Given the description of an element on the screen output the (x, y) to click on. 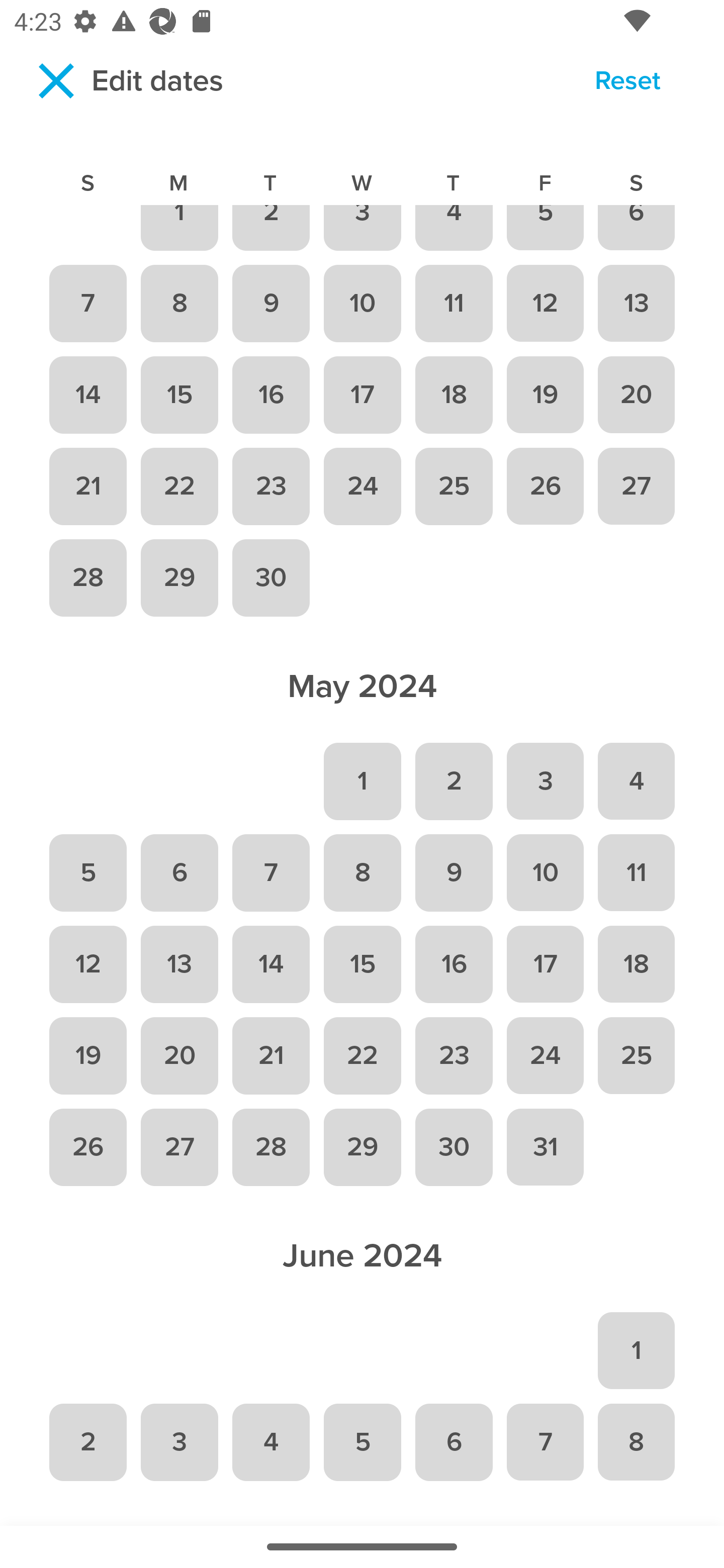
Reset (627, 82)
1 (179, 229)
2 (270, 229)
3 (362, 229)
4 (453, 229)
5 (545, 229)
6 (636, 229)
7 (87, 303)
8 (179, 303)
9 (270, 303)
10 (362, 303)
11 (453, 303)
12 (545, 303)
13 (636, 303)
14 (87, 394)
15 (179, 394)
16 (270, 394)
17 (362, 394)
18 (453, 394)
19 (545, 394)
20 (636, 394)
21 (87, 485)
22 (179, 485)
23 (270, 485)
24 (362, 485)
25 (453, 485)
26 (545, 485)
27 (636, 485)
28 (87, 578)
29 (179, 578)
30 (270, 578)
1 (362, 780)
2 (453, 780)
3 (545, 780)
4 (636, 780)
5 (87, 873)
6 (179, 873)
7 (270, 873)
8 (362, 873)
9 (453, 873)
10 (545, 873)
11 (636, 873)
12 (87, 963)
13 (179, 963)
14 (270, 963)
15 (362, 963)
16 (453, 963)
17 (545, 963)
18 (636, 963)
19 (87, 1054)
20 (179, 1054)
21 (270, 1054)
22 (362, 1054)
23 (453, 1054)
24 (545, 1054)
25 (636, 1054)
26 (87, 1147)
27 (179, 1147)
28 (270, 1147)
29 (362, 1147)
30 (453, 1147)
31 (545, 1147)
1 (636, 1350)
2 (87, 1441)
3 (179, 1441)
4 (270, 1441)
5 (362, 1441)
6 (453, 1441)
7 (545, 1441)
8 (636, 1441)
